Given the description of an element on the screen output the (x, y) to click on. 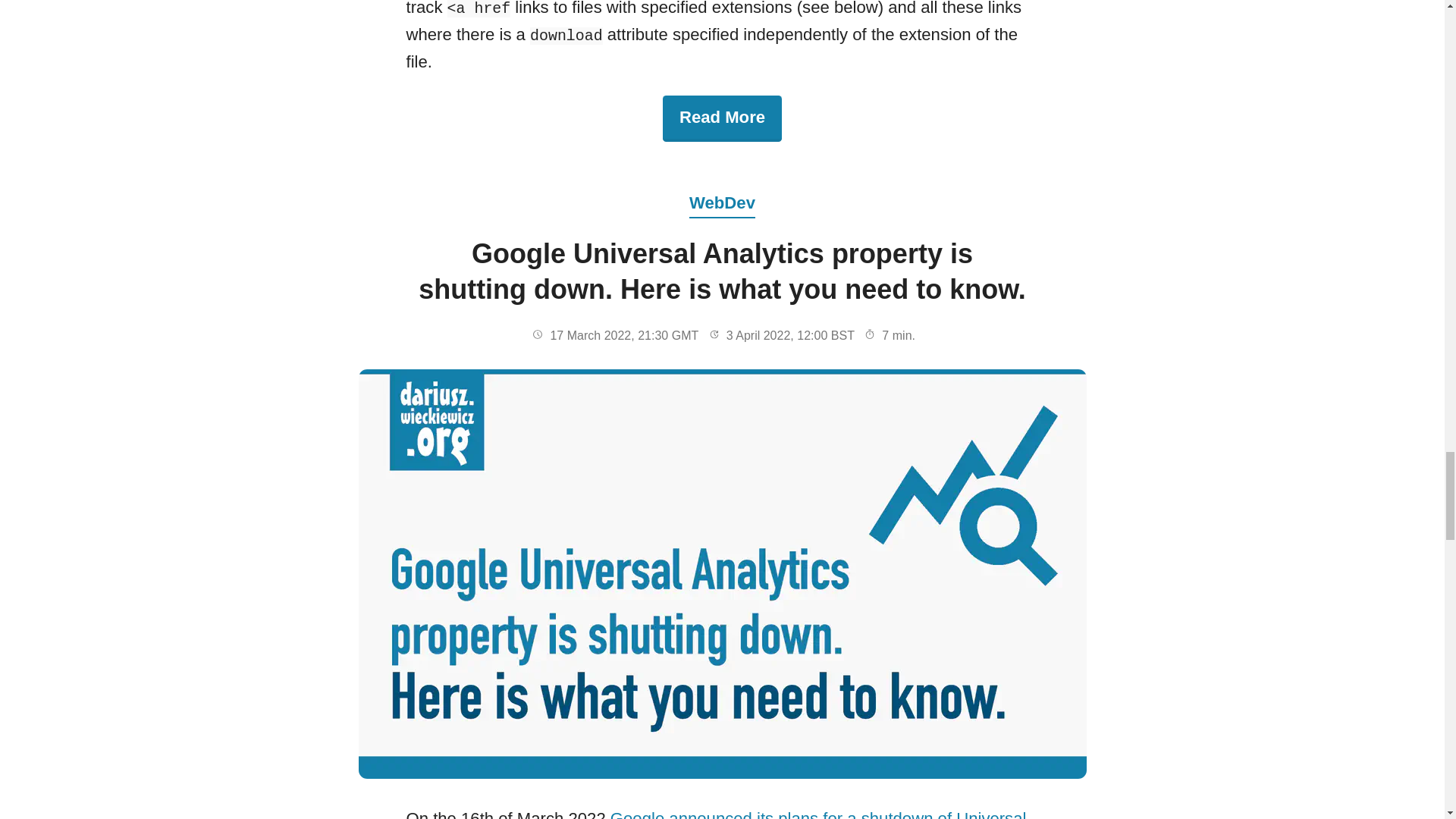
Updated (714, 334)
WebDev (721, 189)
